Given the description of an element on the screen output the (x, y) to click on. 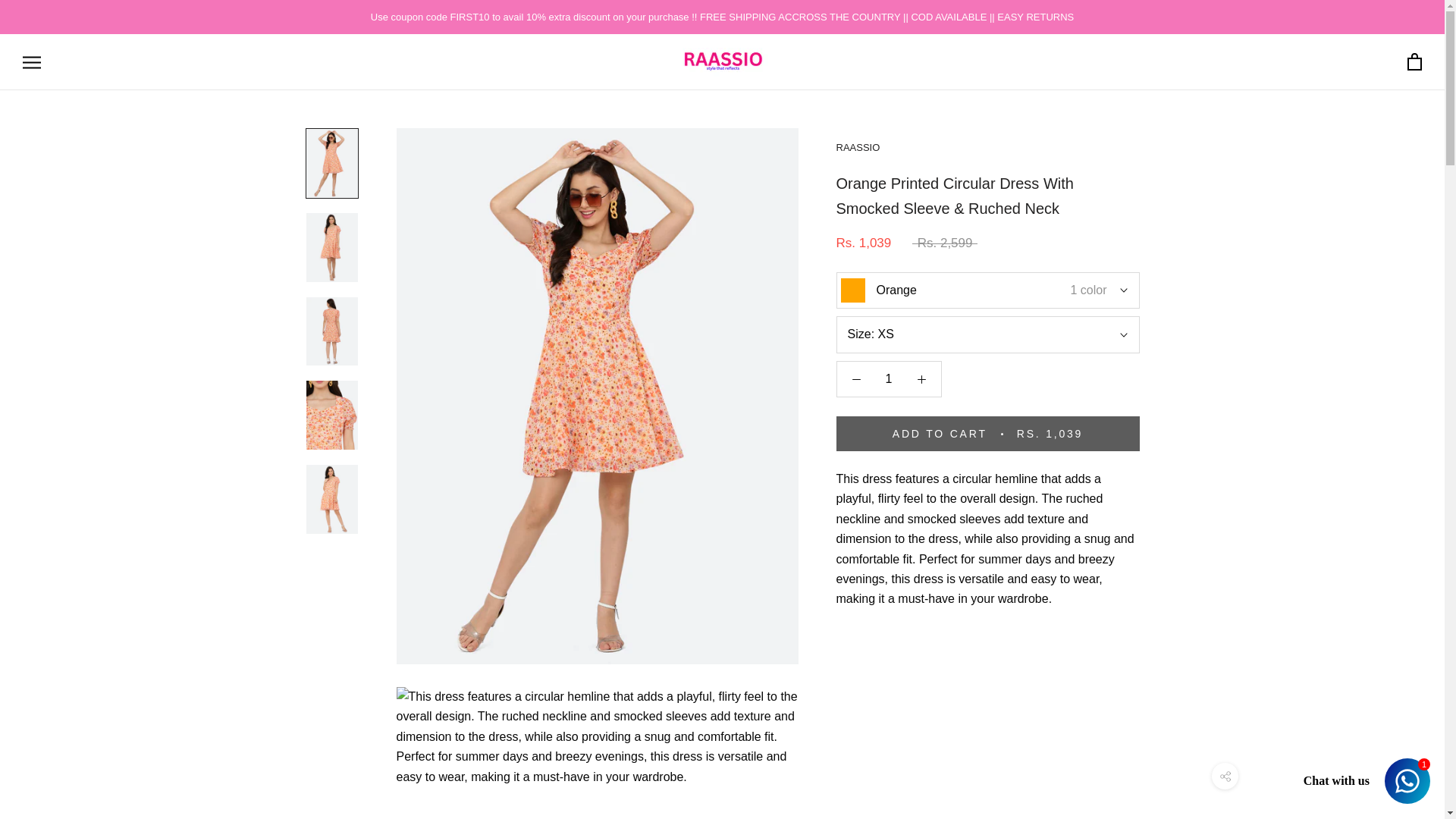
1 (888, 378)
